Given the description of an element on the screen output the (x, y) to click on. 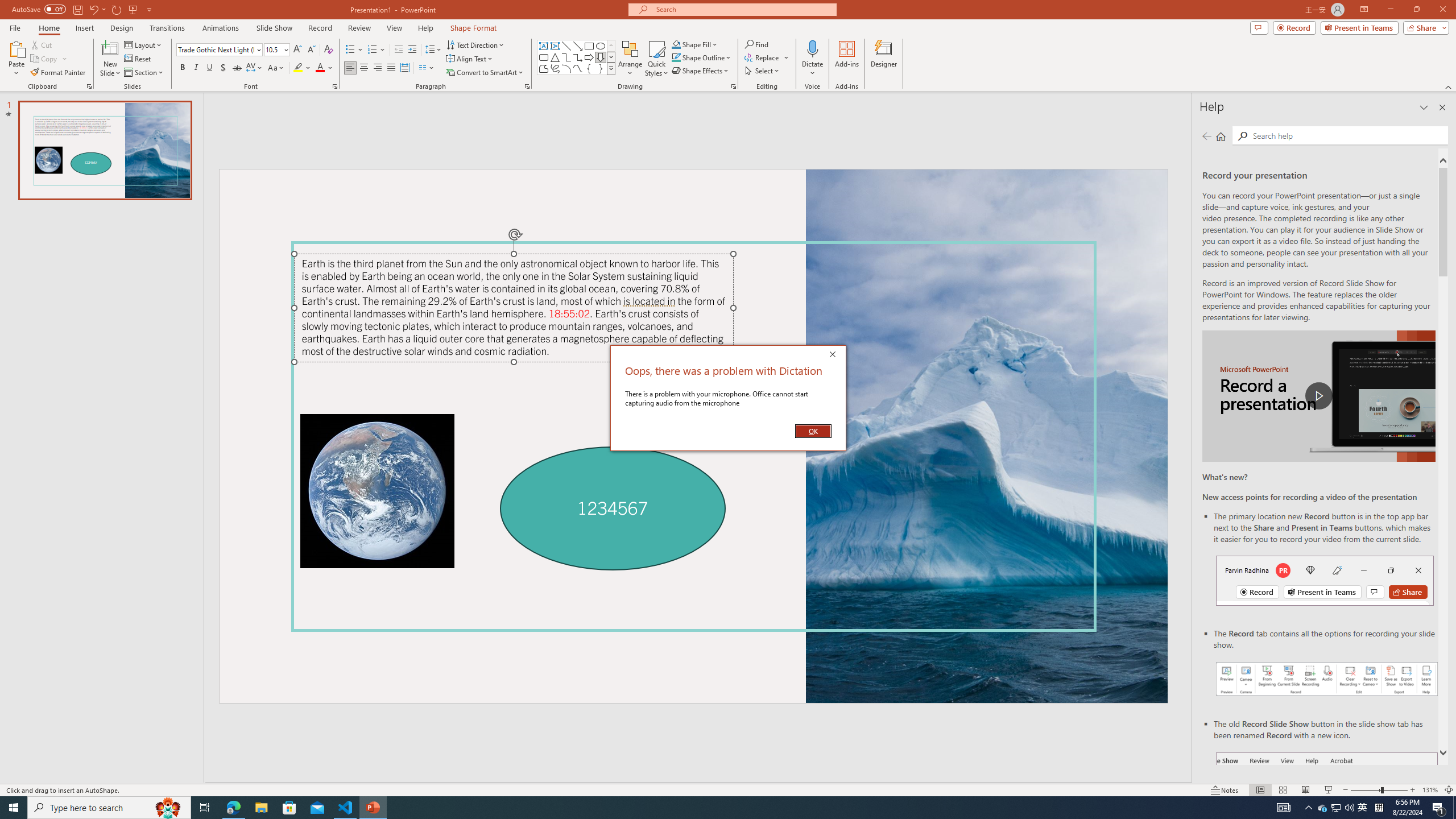
Font (215, 49)
Search (1347, 135)
Left Brace (589, 68)
Visual Studio Code - 1 running window (345, 807)
Line Spacing (433, 49)
